Given the description of an element on the screen output the (x, y) to click on. 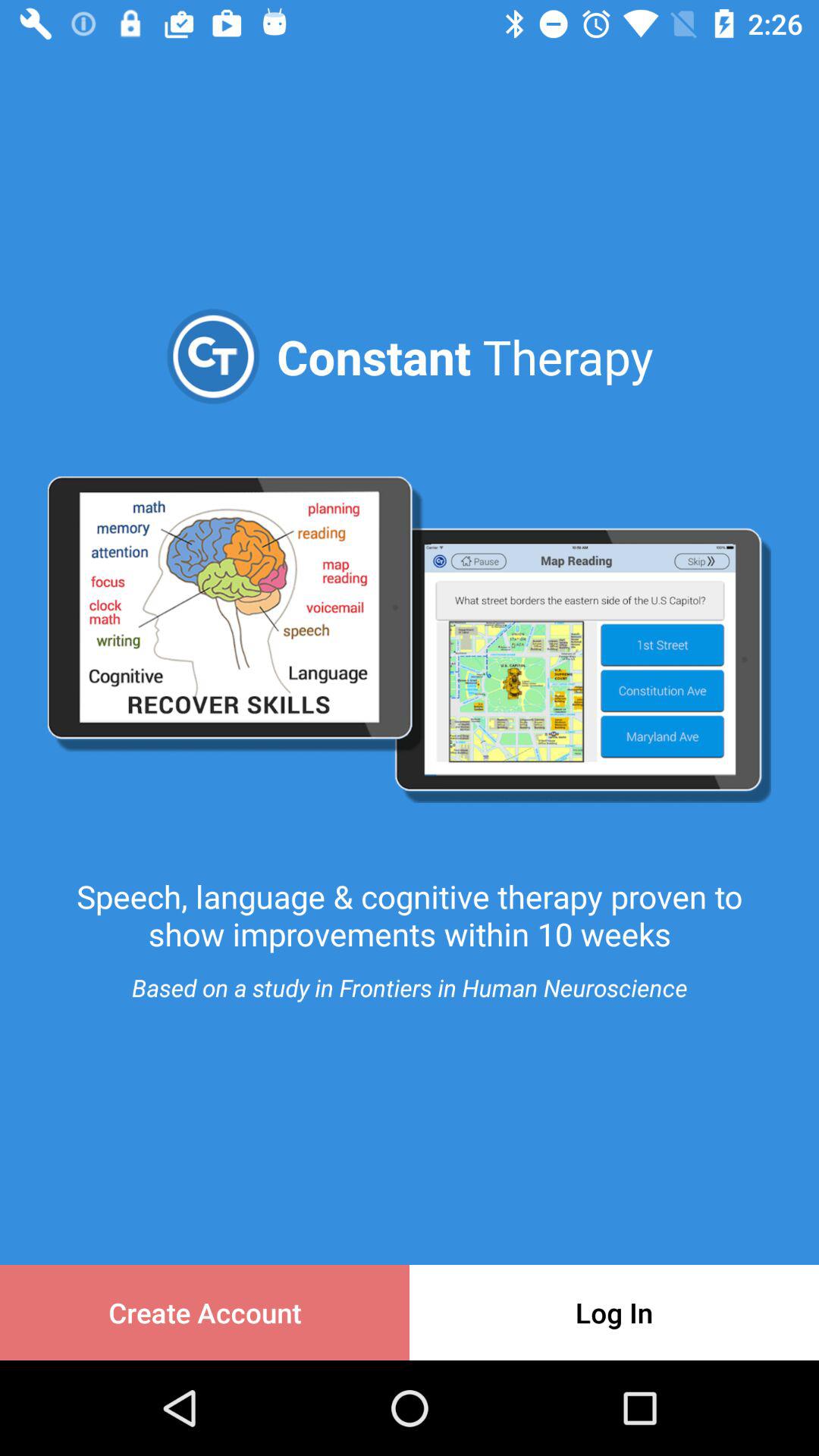
turn off the log in icon (614, 1312)
